Given the description of an element on the screen output the (x, y) to click on. 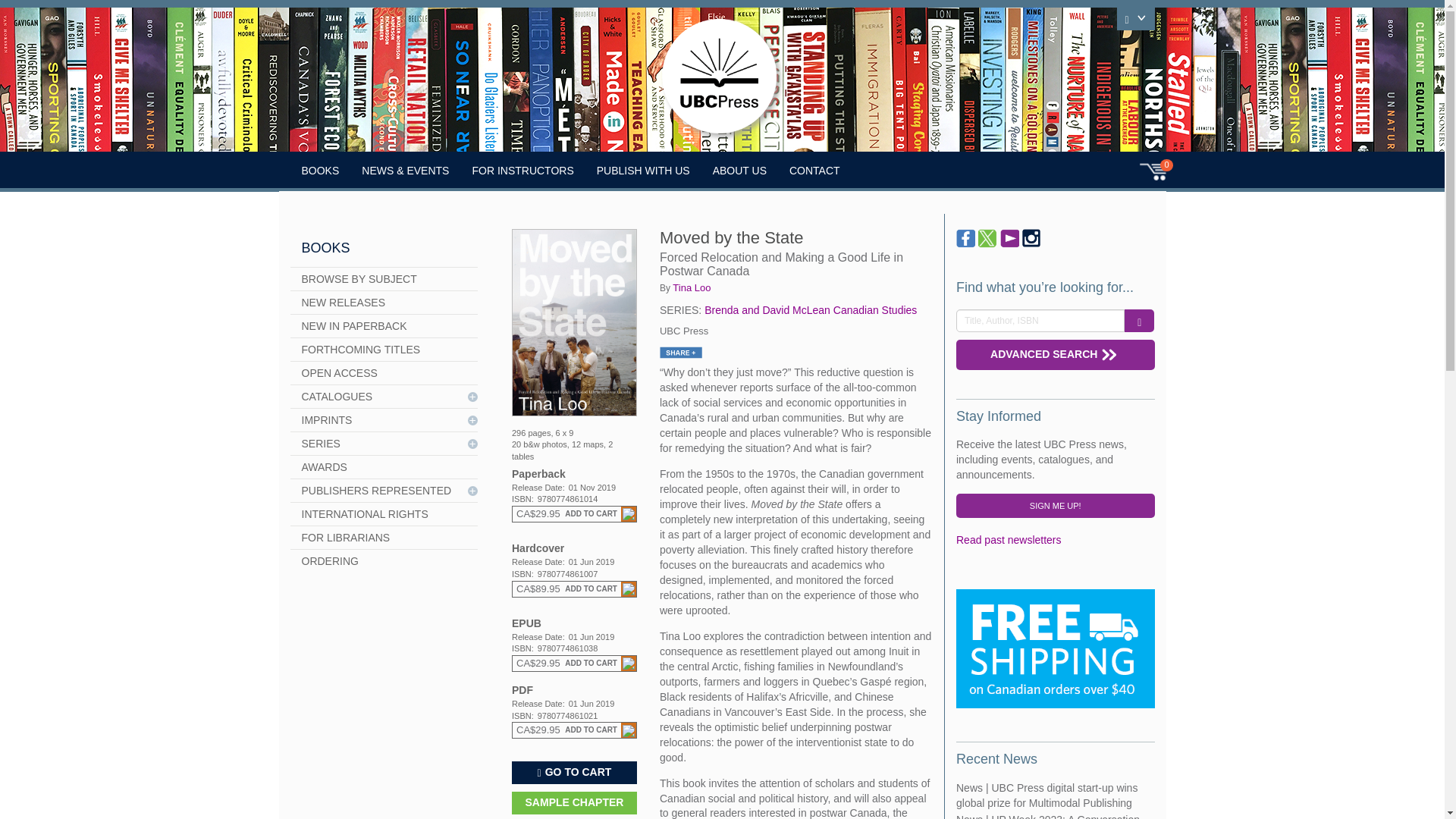
BOOKS (319, 170)
Facebook page (965, 238)
Instagram page (1031, 238)
FOR INSTRUCTORS (522, 170)
Twitter page (987, 238)
YouTube page (1009, 238)
